Given the description of an element on the screen output the (x, y) to click on. 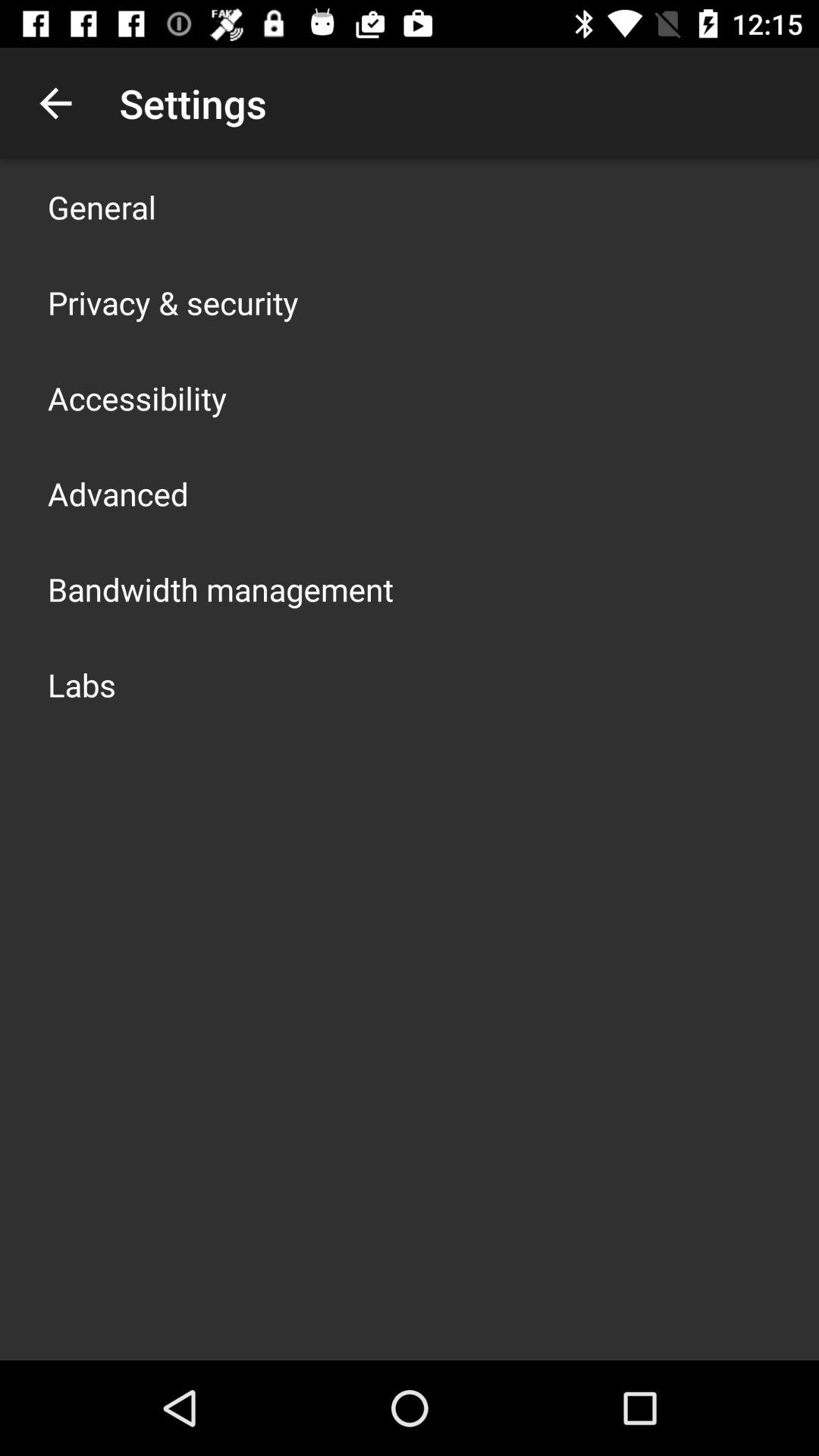
click the labs item (81, 684)
